Given the description of an element on the screen output the (x, y) to click on. 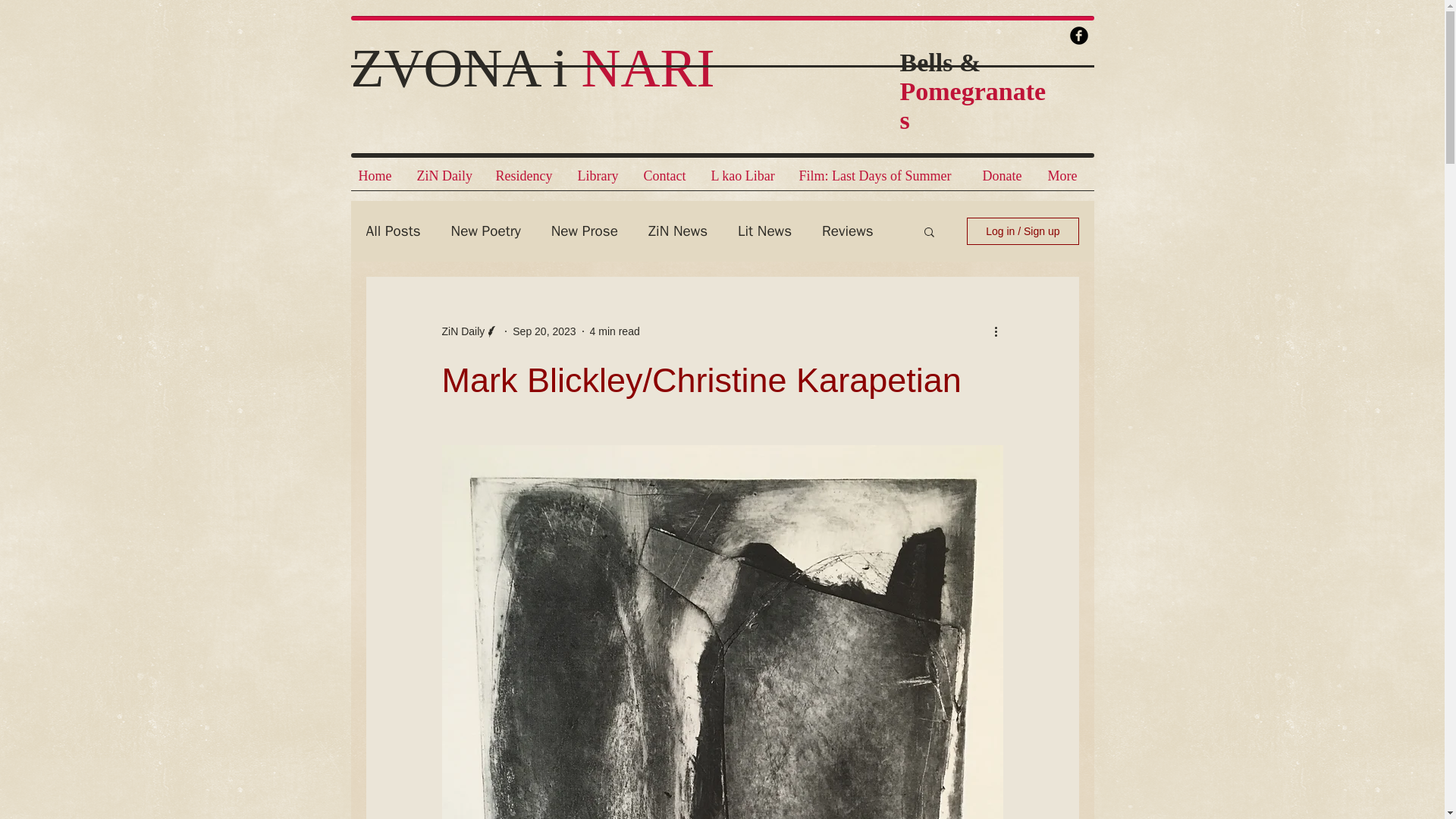
Residency (528, 180)
Donate (1008, 180)
Contact (668, 180)
Lit News (765, 230)
All Posts (392, 230)
Reviews (847, 230)
ZiN Daily (462, 330)
ZiN News (677, 230)
New Poetry (486, 230)
New Prose (584, 230)
